Given the description of an element on the screen output the (x, y) to click on. 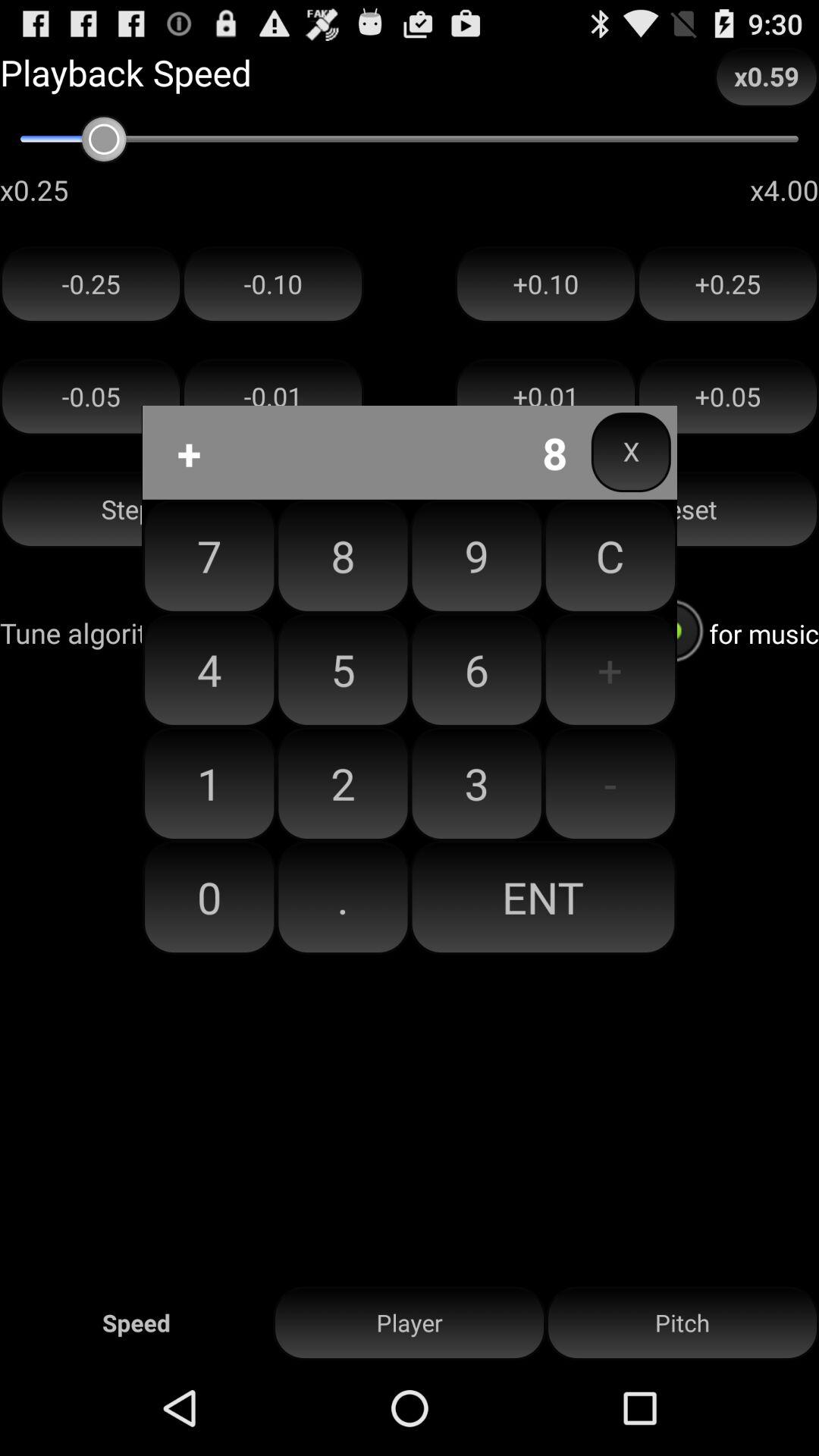
launch the icon next to c item (476, 669)
